Given the description of an element on the screen output the (x, y) to click on. 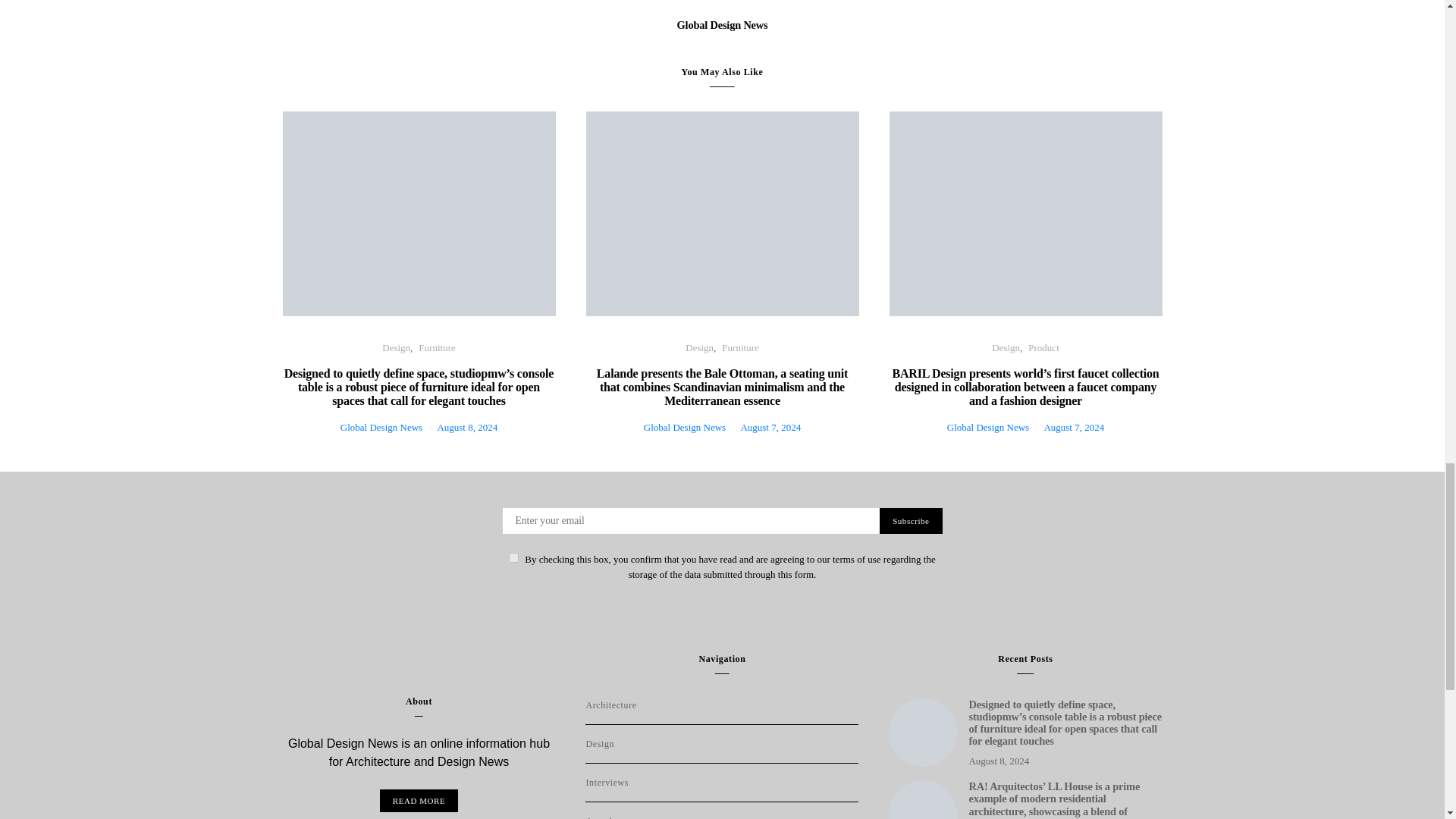
View all posts by Global Design News (381, 427)
View all posts by Global Design News (684, 427)
on (513, 557)
View all posts by Global Design News (988, 427)
